Given the description of an element on the screen output the (x, y) to click on. 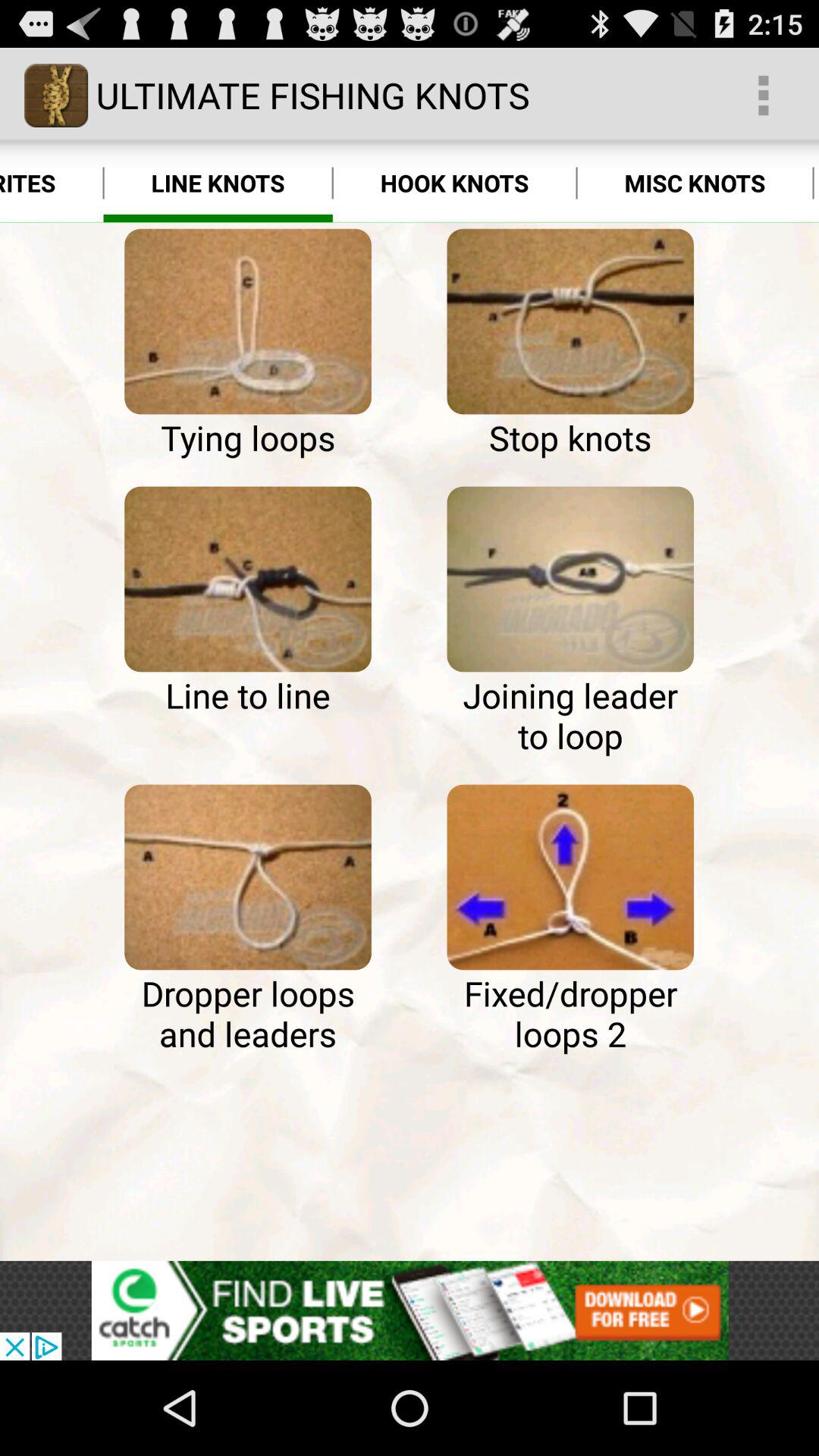
advertisement (409, 1310)
